Given the description of an element on the screen output the (x, y) to click on. 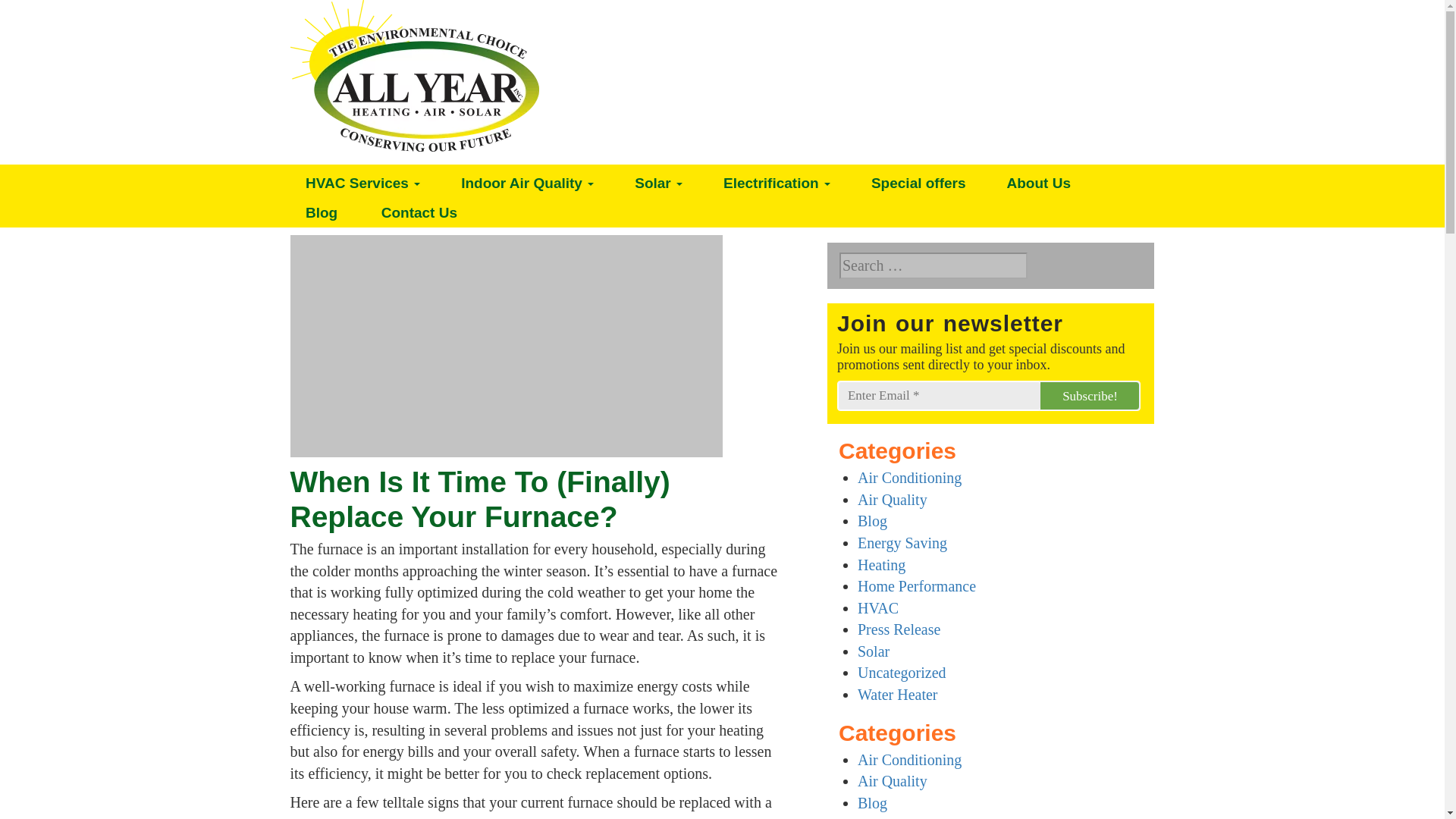
Electrification (776, 183)
Solar (659, 183)
HVAC Services (362, 183)
Heating (881, 564)
HVAC (877, 607)
Solar (659, 183)
Press Release (898, 629)
Subscribe! (1089, 395)
Subscribe! (1089, 395)
About Us (1038, 183)
Contact Us (419, 212)
All Year Inc. (413, 76)
Air Conditioning (908, 477)
Water Heater (897, 694)
Uncategorized (901, 672)
